Given the description of an element on the screen output the (x, y) to click on. 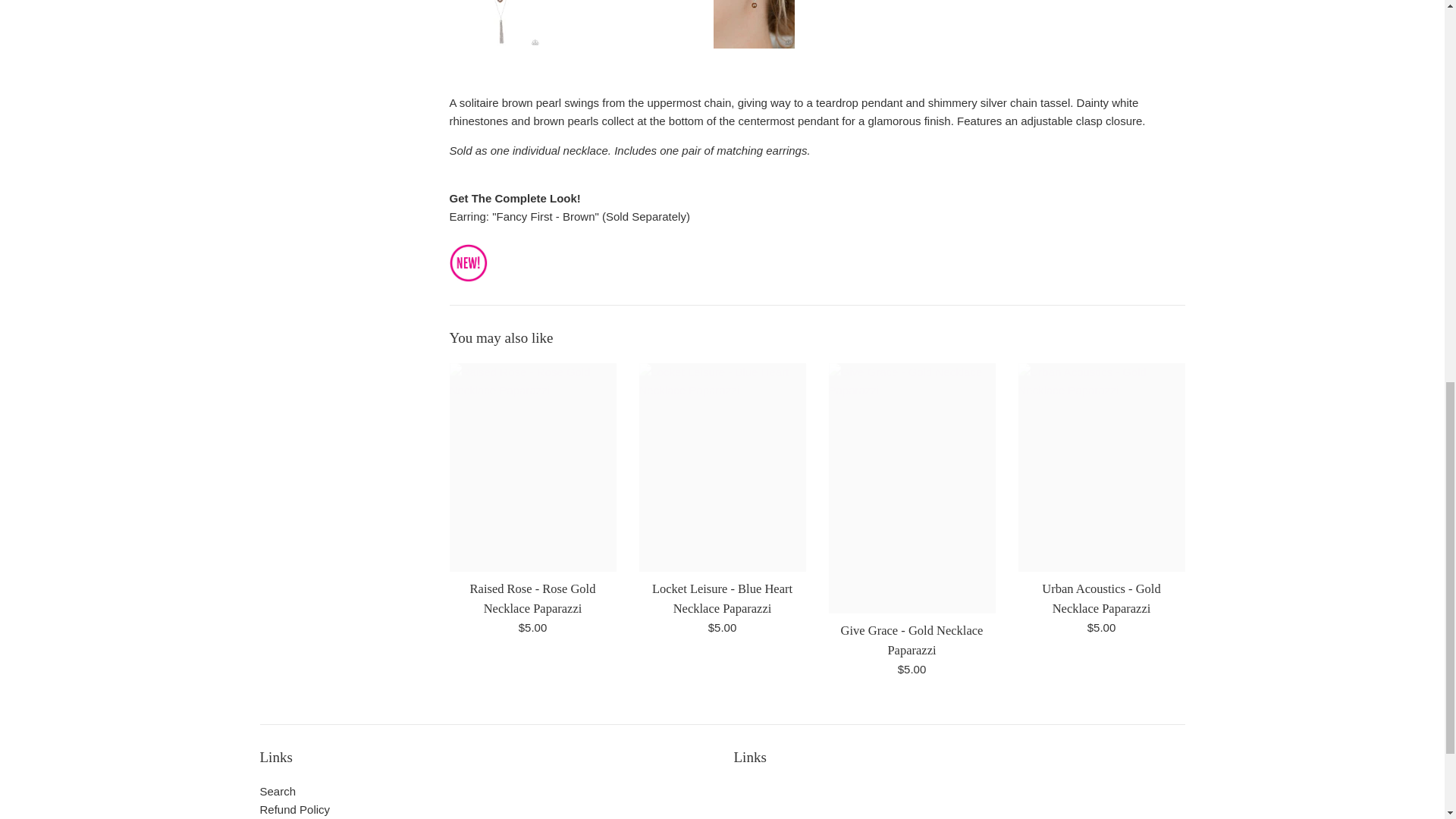
Locket Leisure - Blue Heart Necklace Paparazzi (722, 598)
Raised Rose - Rose Gold Necklace Paparazzi (532, 598)
Search (277, 790)
Urban Acoustics - Gold Necklace Paparazzi (1101, 598)
Give Grace - Gold Necklace Paparazzi (912, 640)
Refund Policy (294, 809)
